Given the description of an element on the screen output the (x, y) to click on. 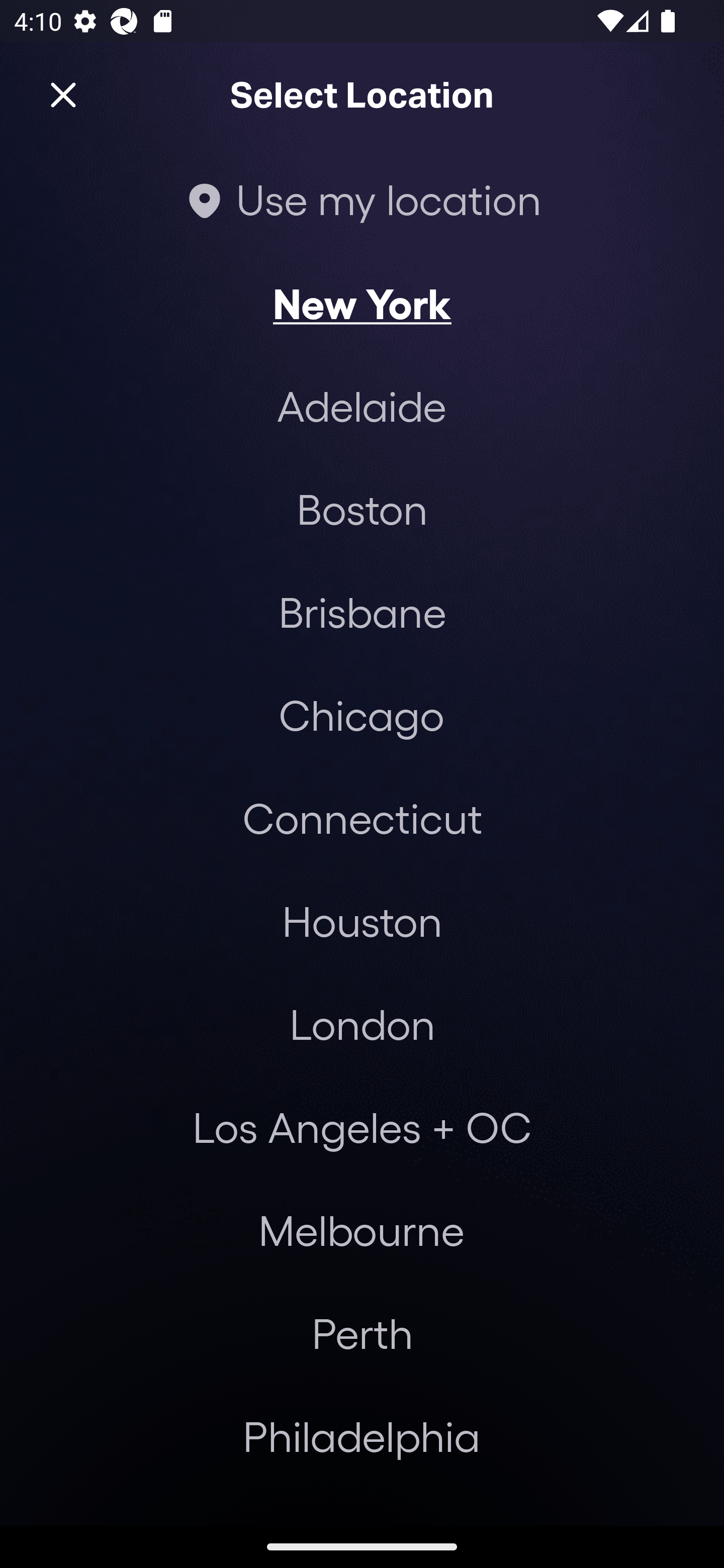
Close (62, 95)
   Use my location (362, 198)
New York (361, 302)
Adelaide (361, 405)
Boston (361, 508)
Brisbane (361, 611)
Chicago (361, 714)
Connecticut (361, 817)
Houston (361, 920)
London (361, 1023)
Los Angeles + OC (361, 1127)
Melbourne (361, 1230)
Perth (361, 1332)
Philadelphia (361, 1436)
